Given the description of an element on the screen output the (x, y) to click on. 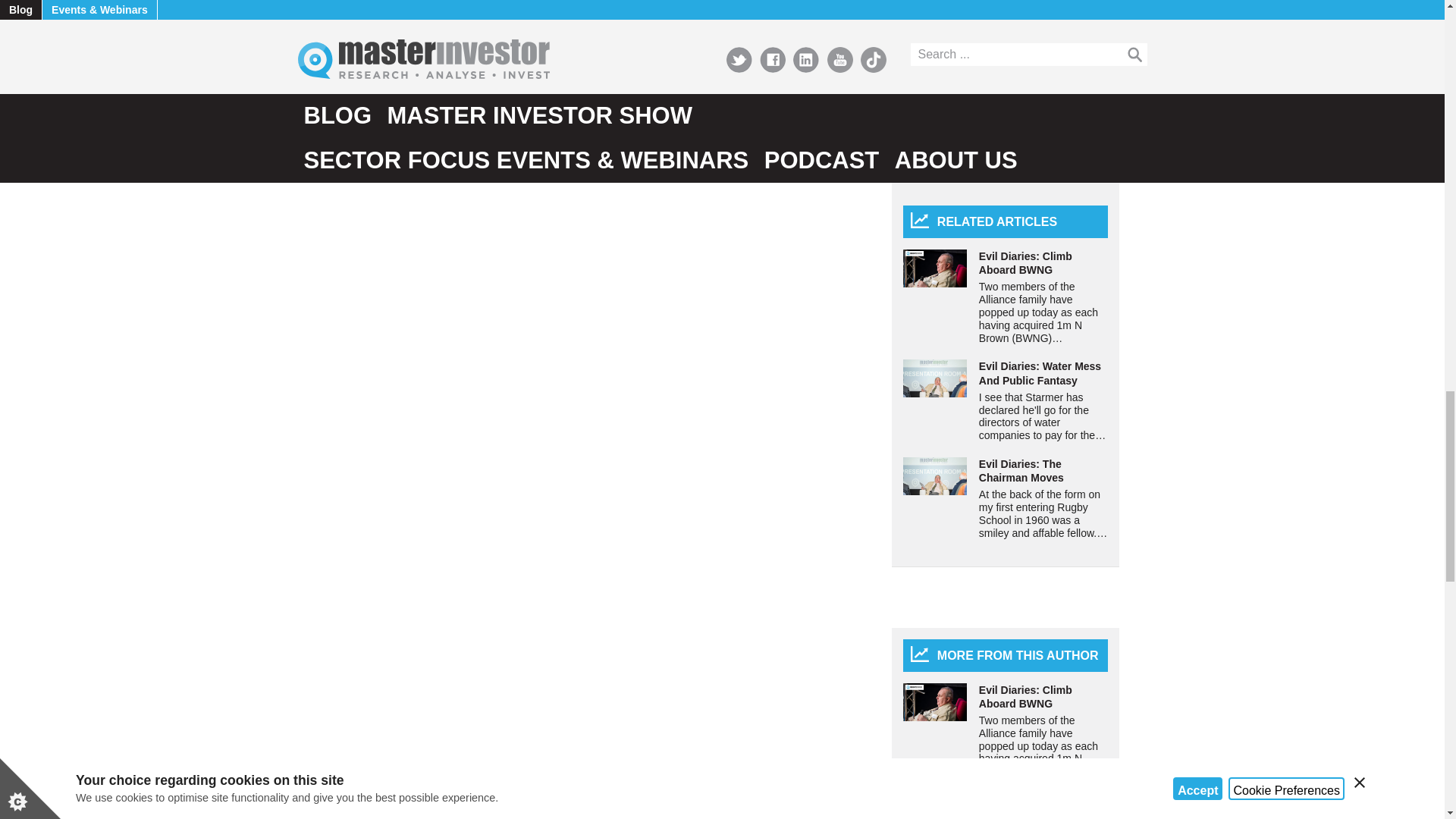
Post Comment (376, 14)
Evil Diaries: Climb Aboard BWNG (934, 702)
Evil Diaries: Water Mess And Public Fantasy (934, 378)
Evil Diaries: Climb Aboard BWNG (934, 268)
Evil Diaries: The Chairman Moves (934, 476)
